Given the description of an element on the screen output the (x, y) to click on. 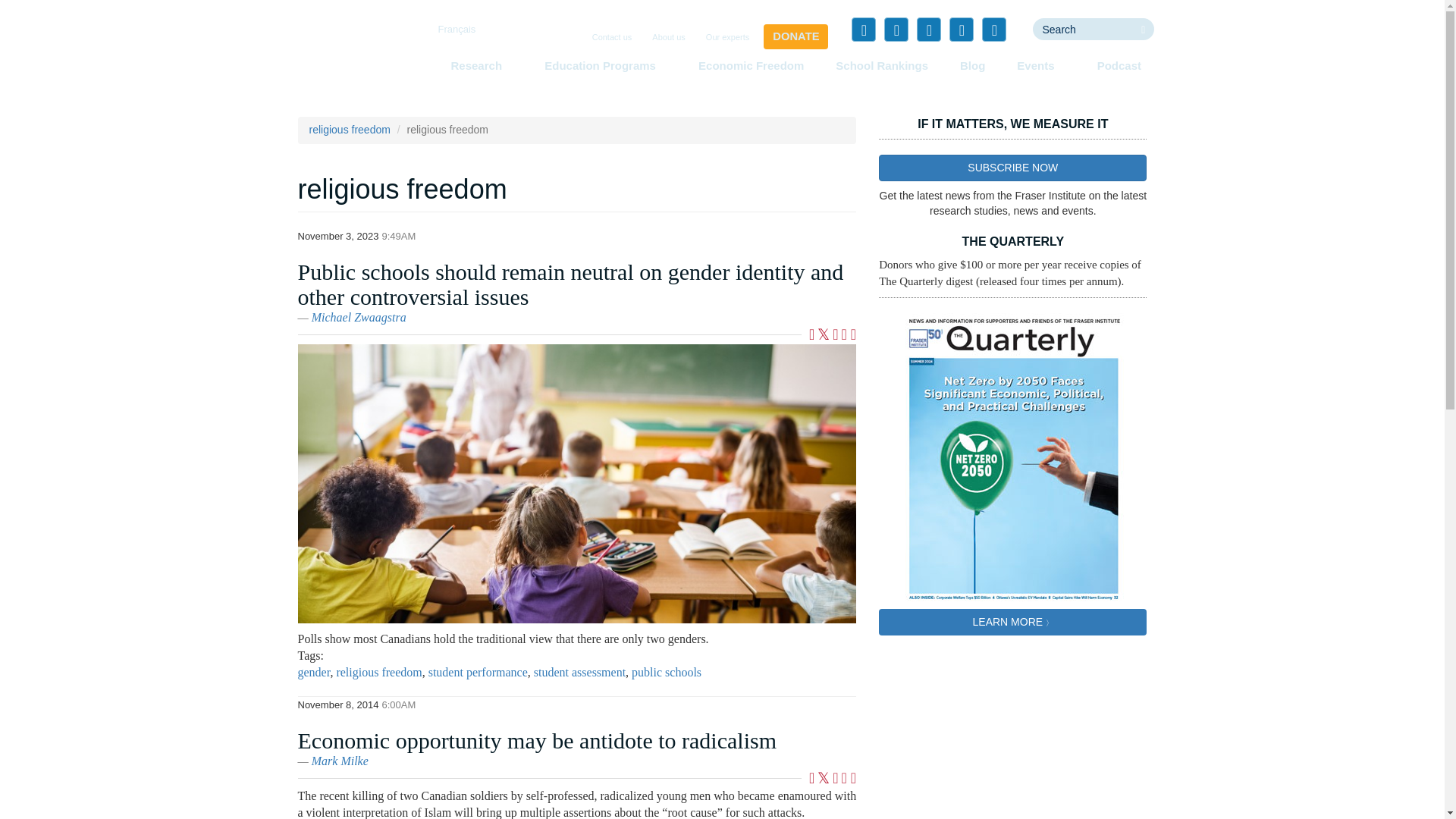
Enter the terms you wish to search for. (1082, 29)
Contact us (612, 37)
Home (352, 56)
About us (668, 37)
Research (481, 65)
YouTube (961, 29)
LinkedIn (928, 29)
Instagram (993, 29)
School Rankings (882, 65)
